Given the description of an element on the screen output the (x, y) to click on. 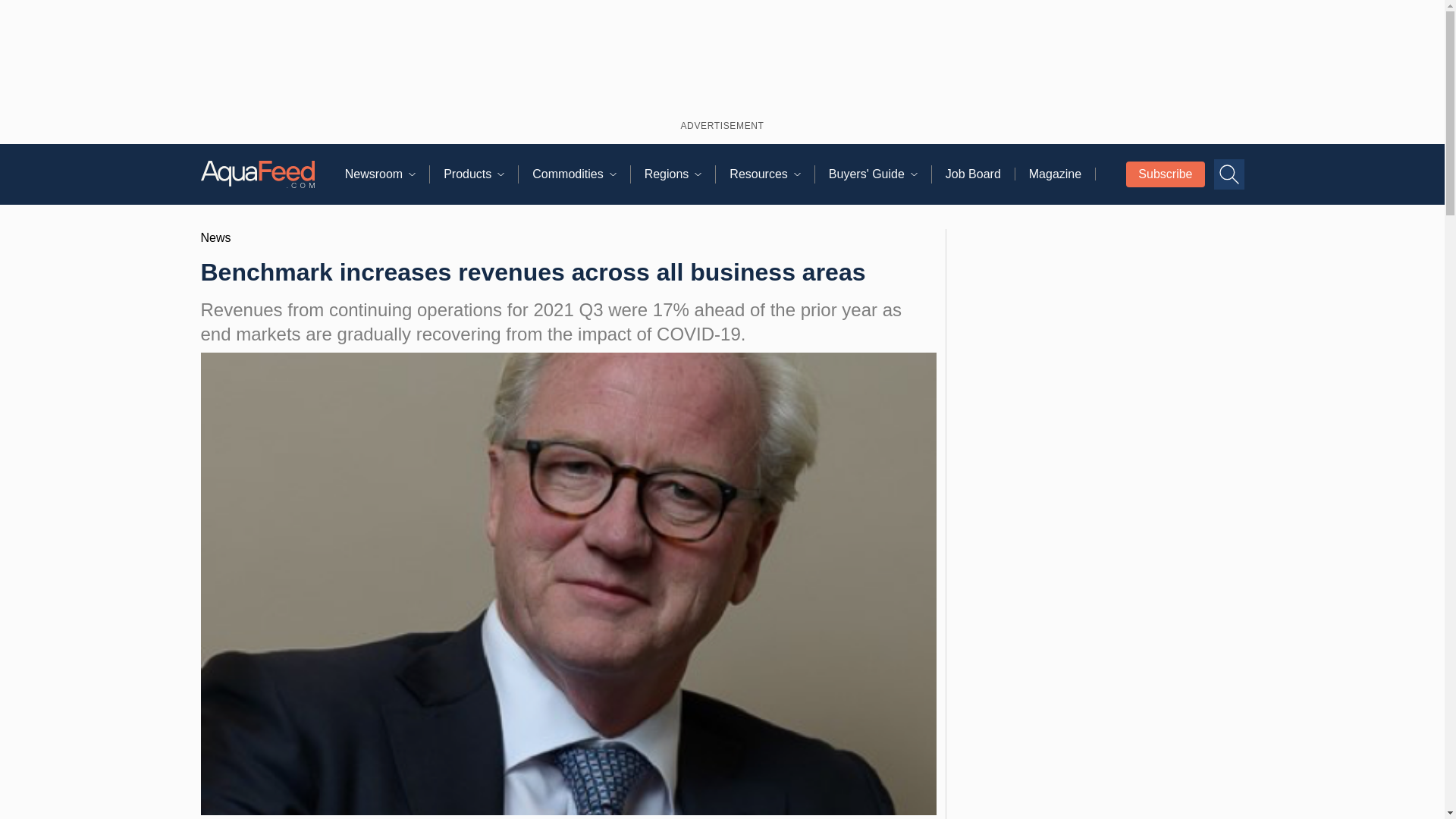
Regions (680, 174)
Resources (771, 174)
Commodities (581, 174)
Products (481, 174)
Newsroom (387, 174)
Buyers' Guide (879, 174)
3rd party ad content (1098, 743)
3rd party ad content (722, 56)
